Given the description of an element on the screen output the (x, y) to click on. 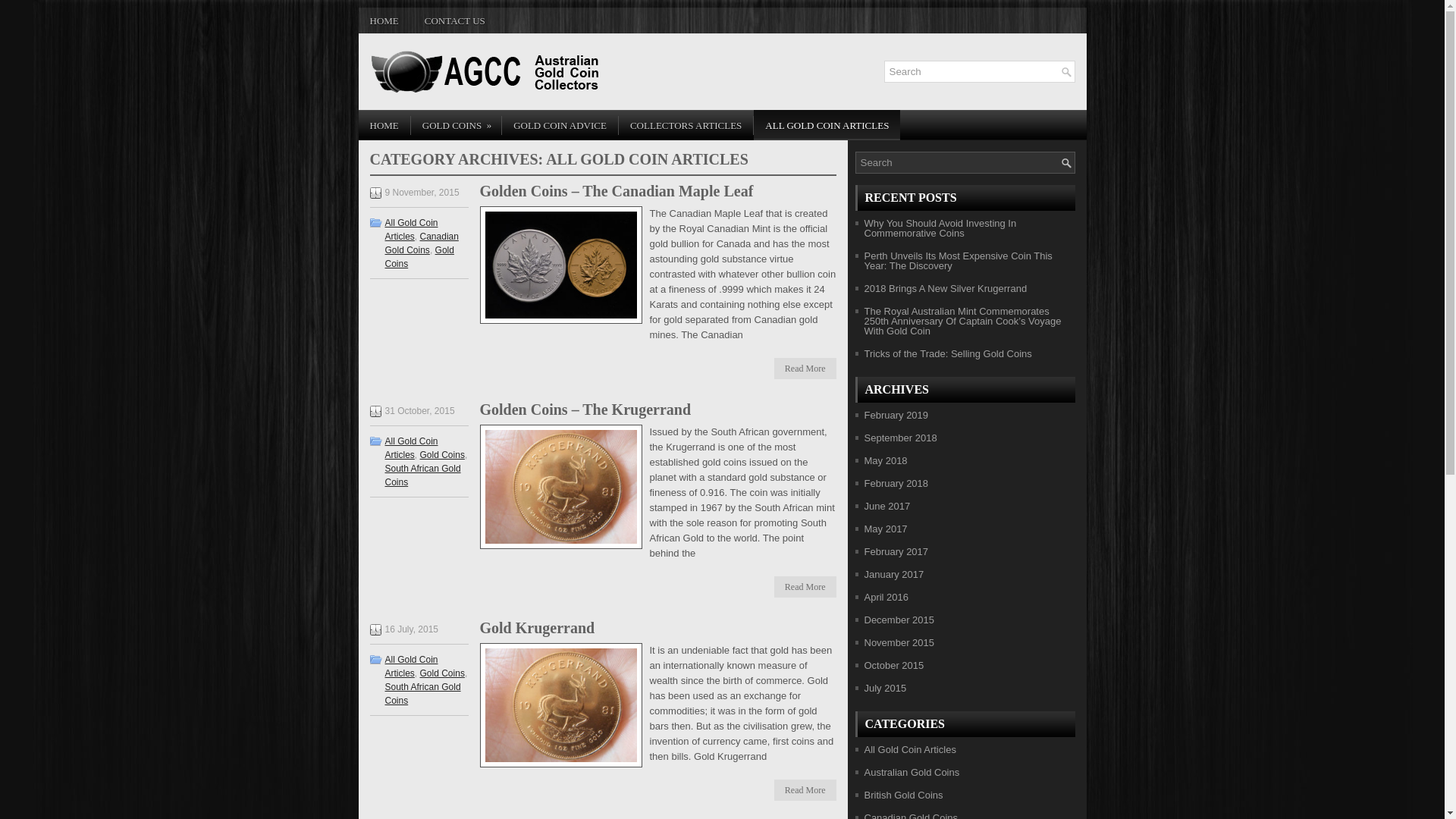
All Gold Coin Articles Element type: text (411, 448)
South African Gold Coins Element type: text (423, 475)
Australian Gold Coins Element type: text (912, 772)
All Gold Coin Articles Element type: text (910, 749)
South African Gold Coins Element type: text (423, 693)
COLLECTORS ARTICLES Element type: text (685, 124)
December 2015 Element type: text (899, 619)
February 2019 Element type: text (896, 414)
February 2017 Element type: text (896, 551)
Gold Coins Element type: text (419, 256)
Why You Should Avoid Investing In Commemorative Coins Element type: text (940, 227)
HOME Element type: text (383, 124)
2018 Brings A New Silver Krugerrand Element type: text (945, 288)
HOME Element type: text (383, 20)
Australian Gold Coin Collectors Element type: hover (492, 72)
Gold Coins Element type: text (442, 673)
All Gold Coin Articles Element type: text (411, 666)
October 2015 Element type: text (894, 665)
September 2018 Element type: text (900, 437)
Gold Coins Element type: text (442, 454)
November 2015 Element type: text (899, 642)
Type and hit enter Element type: hover (979, 71)
Tricks of the Trade: Selling Gold Coins Element type: text (948, 353)
All Gold Coin Articles Element type: text (411, 229)
January 2017 Element type: text (894, 574)
Gold Krugerrand Element type: text (536, 627)
February 2018 Element type: text (896, 483)
Read More Element type: text (805, 789)
Read More Element type: text (805, 586)
Read More Element type: text (805, 368)
April 2016 Element type: text (886, 596)
ALL GOLD COIN ARTICLES Element type: text (826, 124)
July 2015 Element type: text (885, 687)
May 2018 Element type: text (885, 460)
GOLD COIN ADVICE Element type: text (560, 124)
May 2017 Element type: text (885, 528)
Type and hit enter Element type: hover (965, 162)
CONTACT US Element type: text (454, 20)
Canadian Gold Coins Element type: text (421, 243)
June 2017 Element type: text (887, 505)
British Gold Coins Element type: text (903, 794)
